Given the description of an element on the screen output the (x, y) to click on. 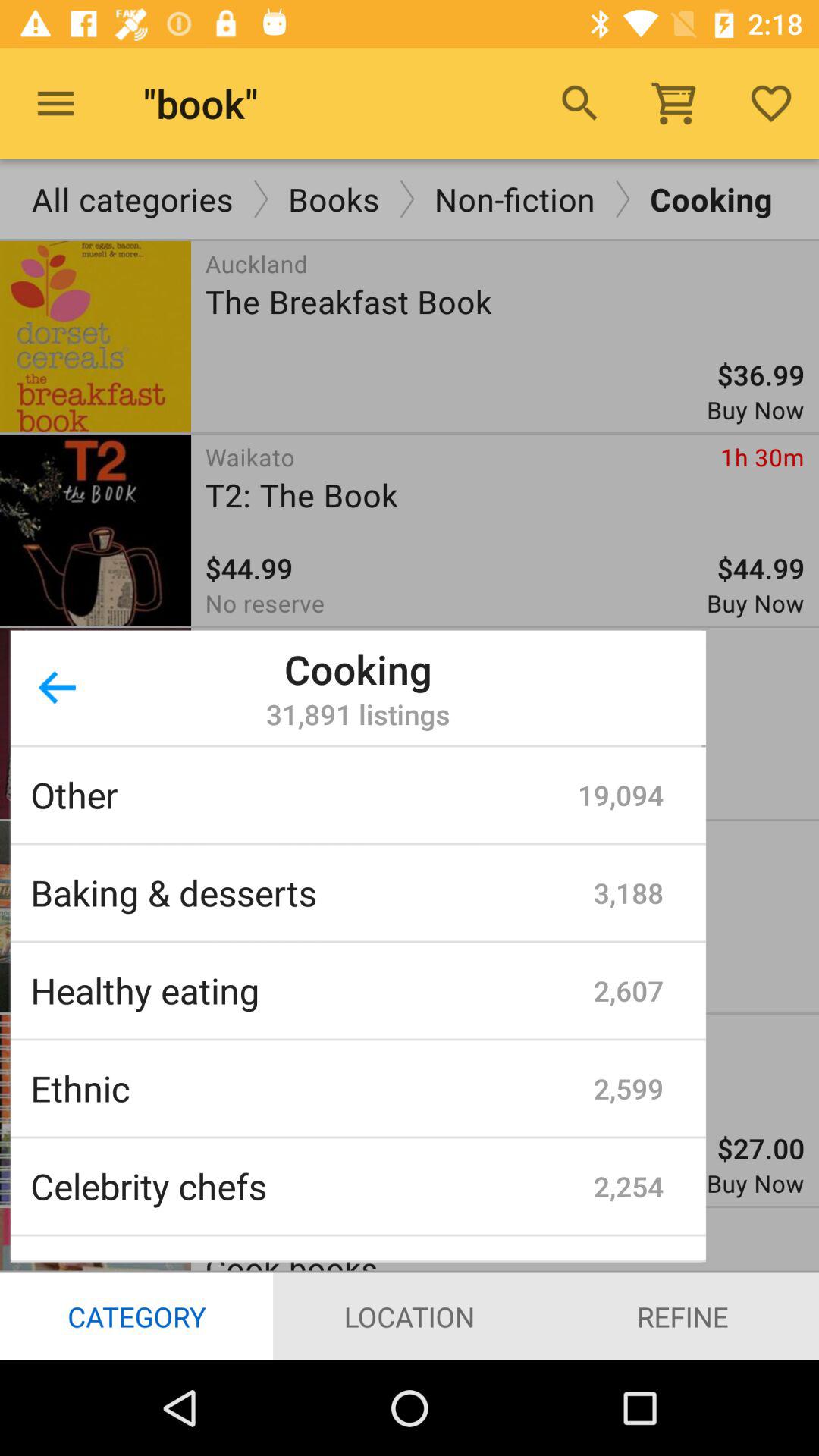
choose other item (303, 794)
